Given the description of an element on the screen output the (x, y) to click on. 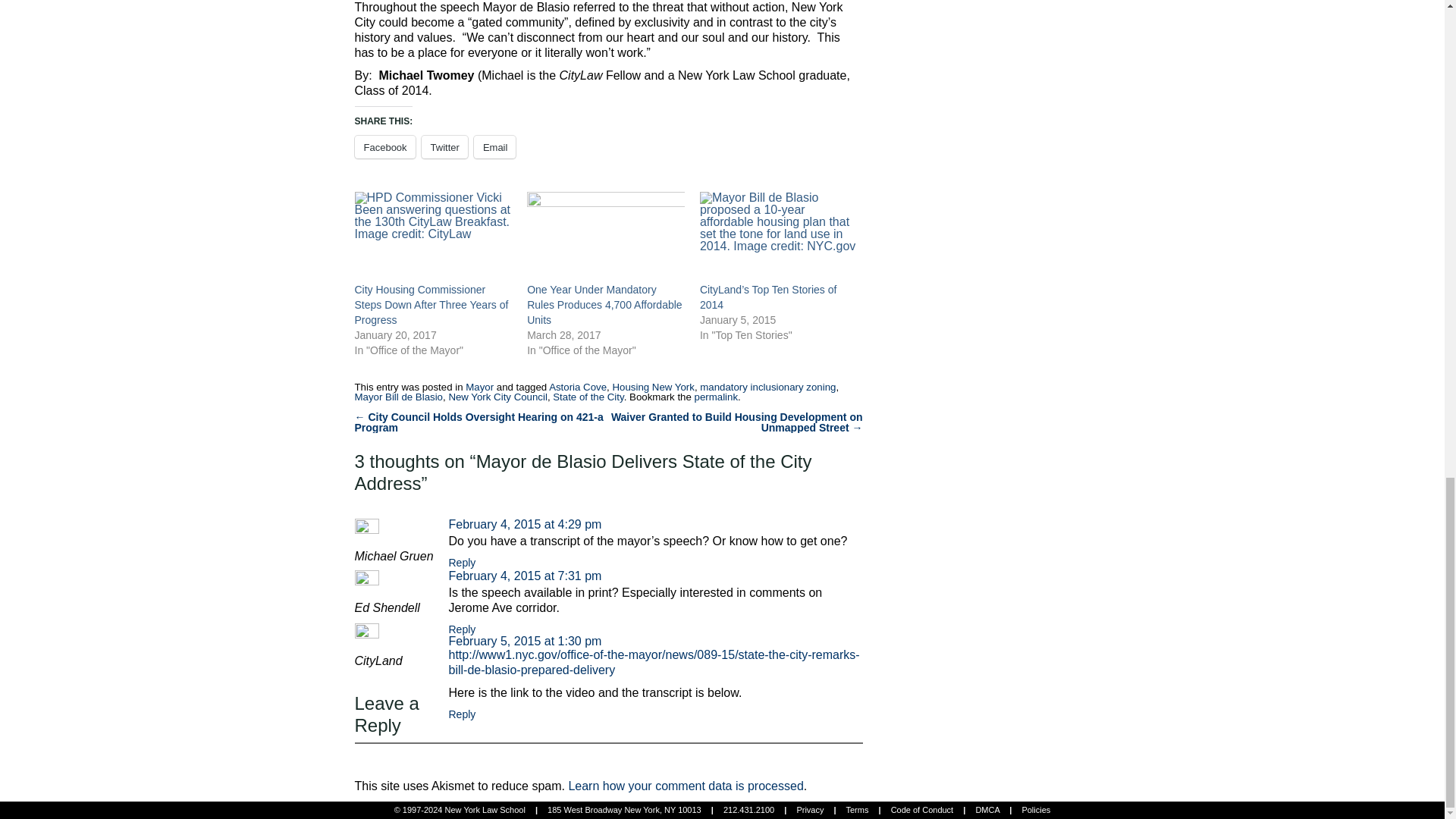
State of the City (588, 396)
permalink (716, 396)
Email (495, 146)
mandatory inclusionary zoning (767, 387)
Mayor Bill de Blasio (399, 396)
Click to email a link to a friend (495, 146)
Housing New York (652, 387)
New York City Council (497, 396)
